Given the description of an element on the screen output the (x, y) to click on. 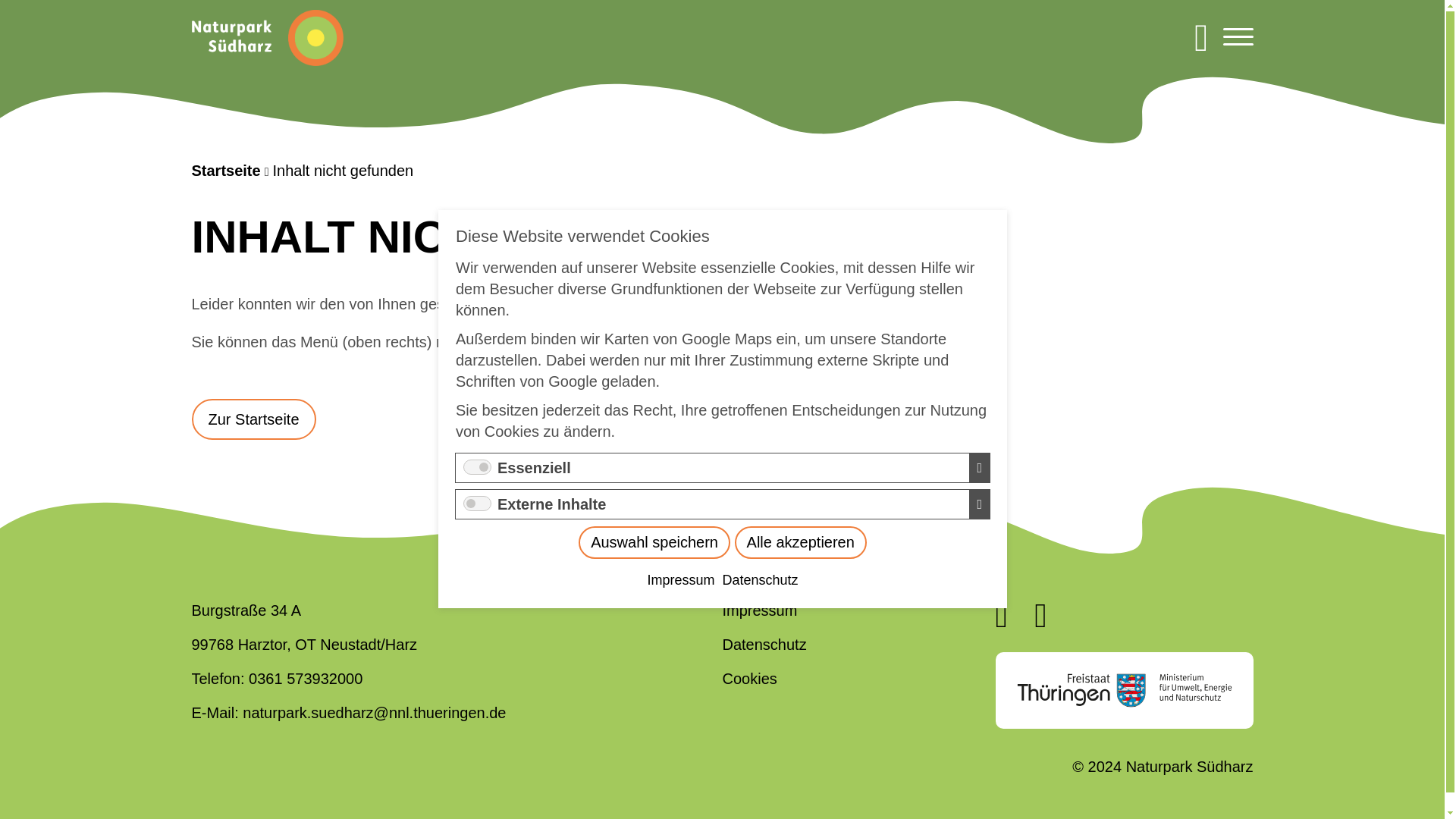
Auswahl speichern (775, 442)
Datenschutz (759, 499)
Impressum (730, 473)
Alle akzeptieren (791, 452)
